Given the description of an element on the screen output the (x, y) to click on. 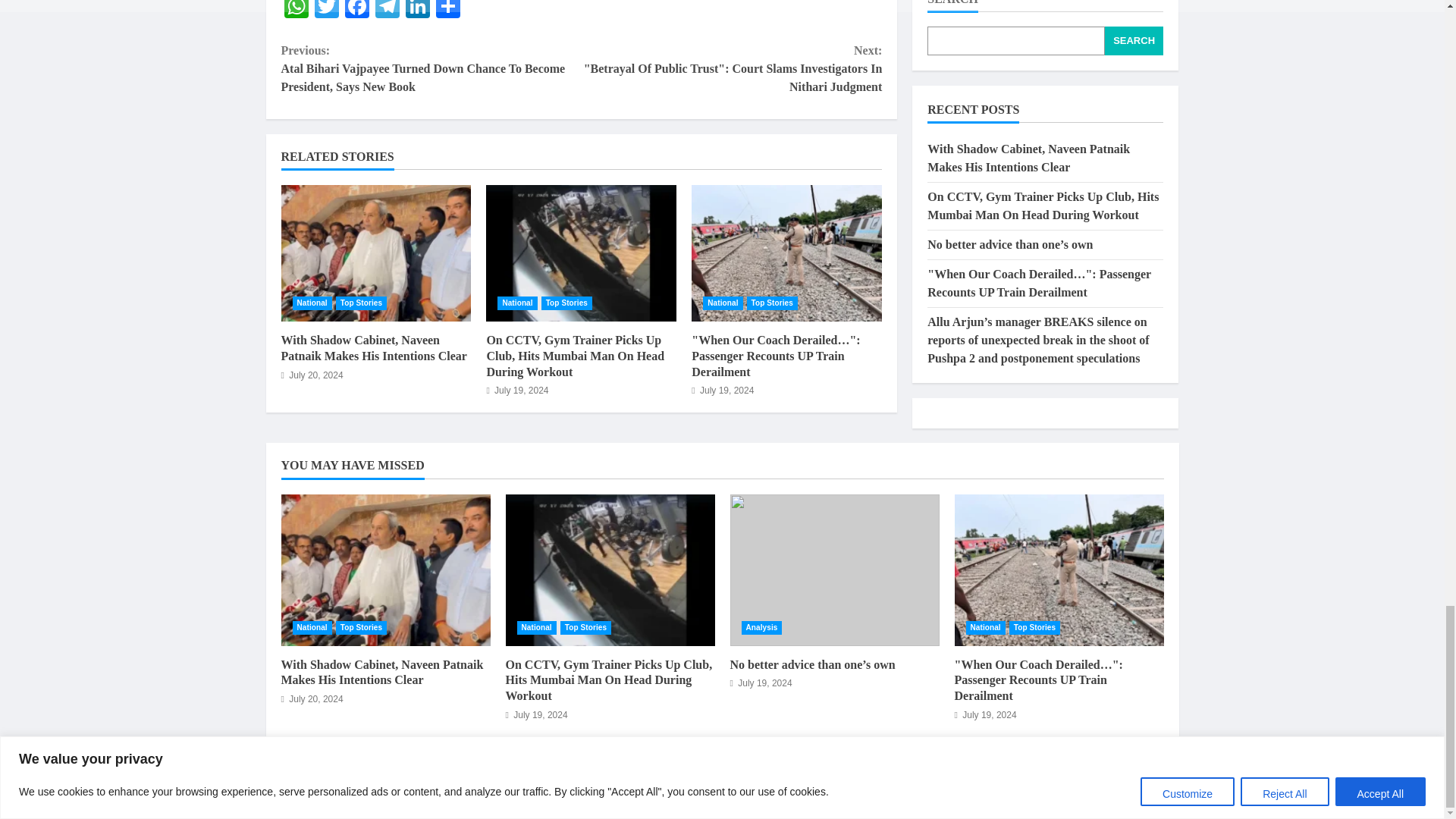
Telegram (386, 11)
WhatsApp (296, 11)
LinkedIn (416, 11)
Twitter (325, 11)
Facebook (355, 11)
